Given the description of an element on the screen output the (x, y) to click on. 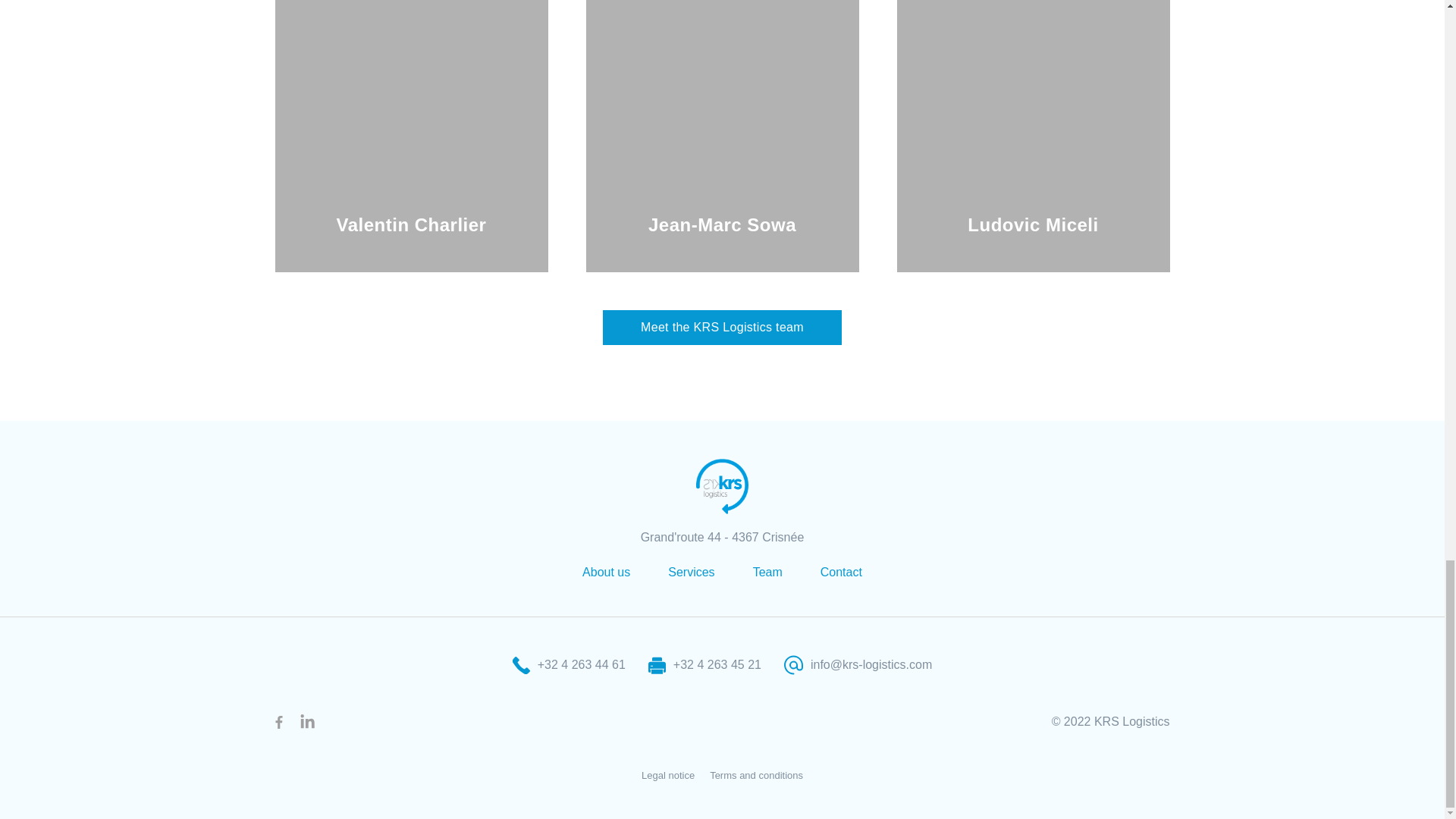
Terms and conditions (756, 775)
Team (767, 571)
Legal notice (668, 775)
Contact (841, 571)
Linkedin (306, 721)
Services (691, 571)
Meet the KRS Logistics team (721, 327)
About us (606, 571)
